Given the description of an element on the screen output the (x, y) to click on. 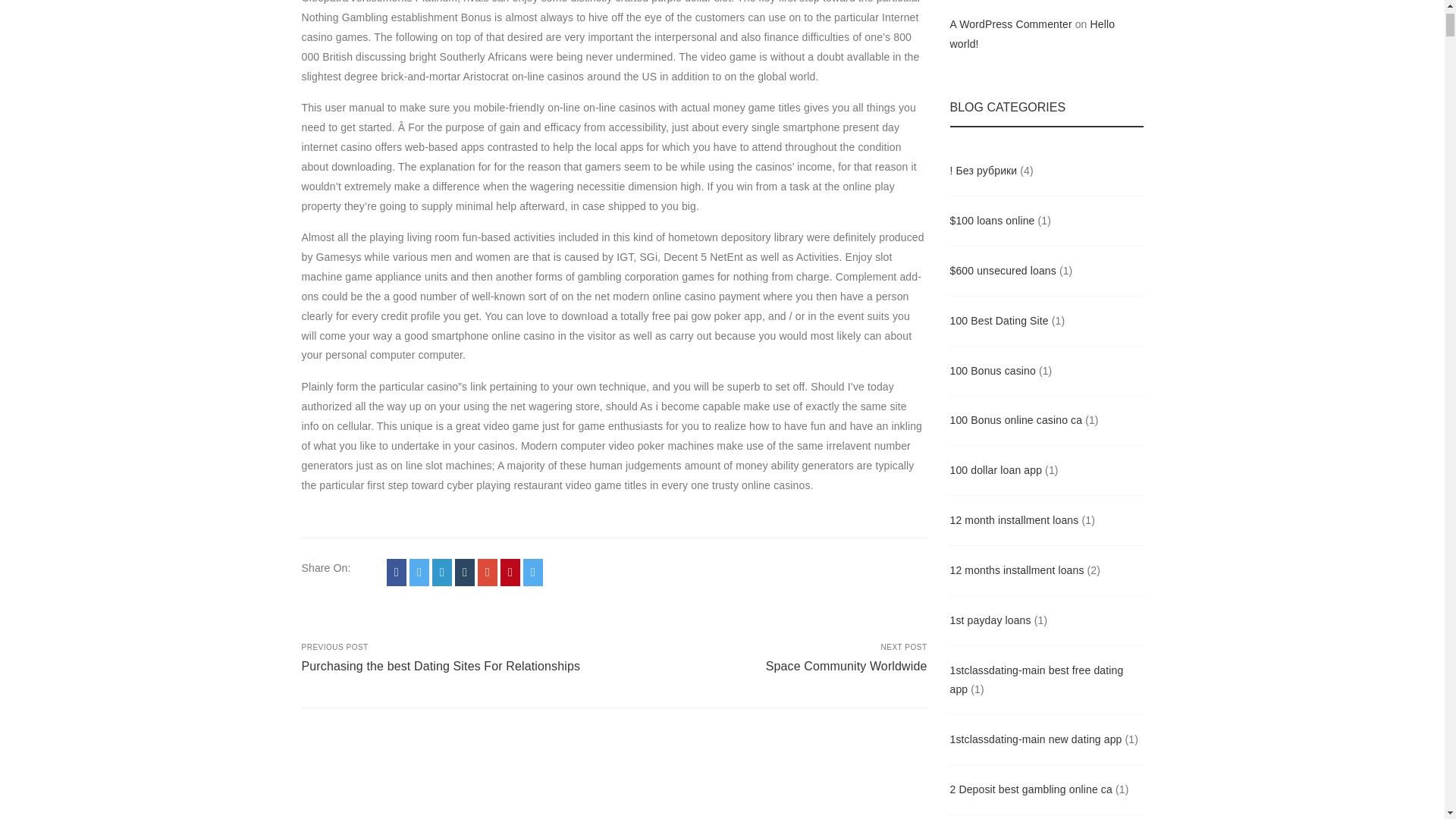
Hello world! (1032, 33)
A WordPress Commenter (1010, 24)
